Given the description of an element on the screen output the (x, y) to click on. 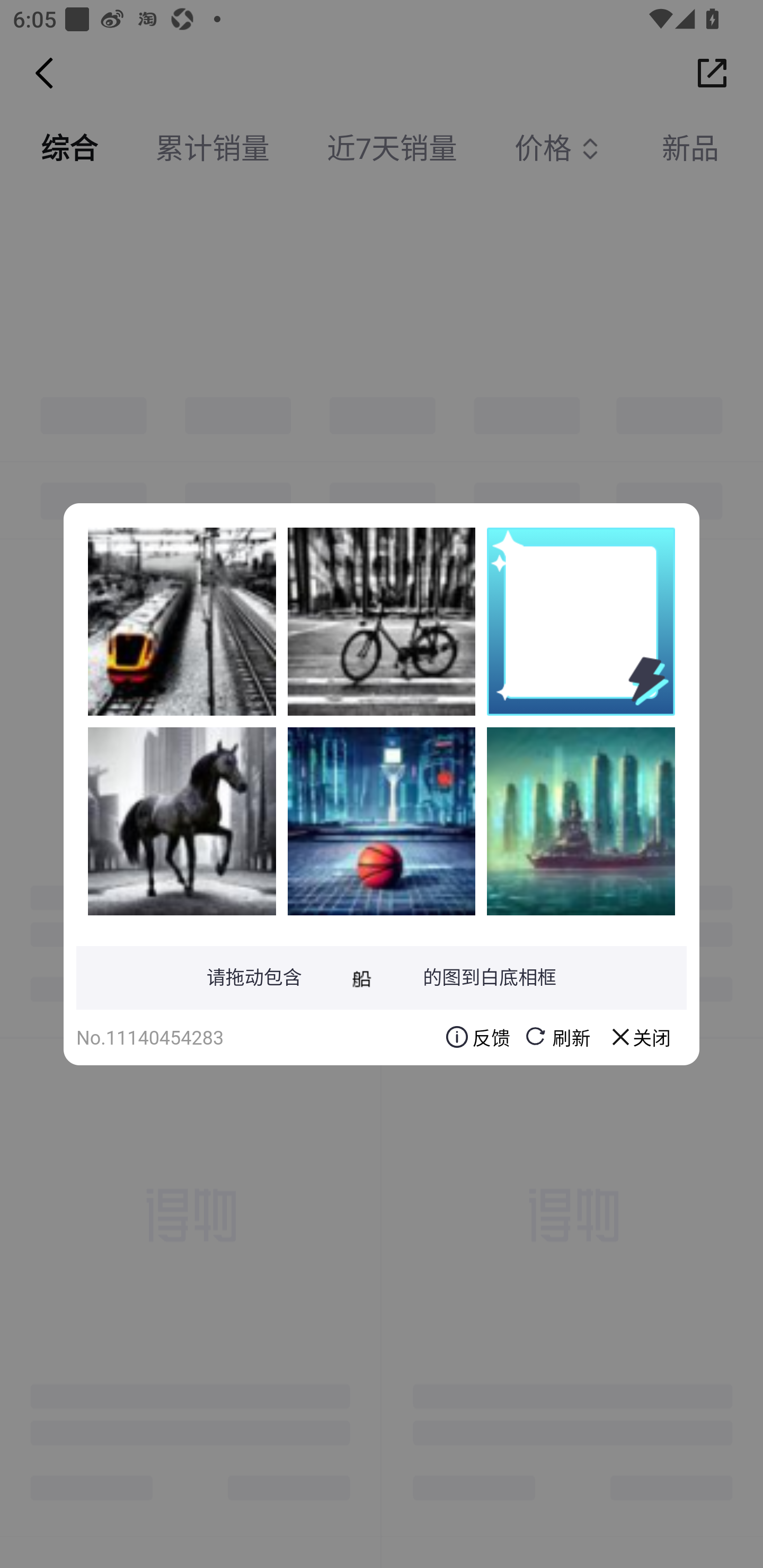
Hyb9c53Pe50884Mn3V8mfqsUsLZANcc (580, 820)
